Given the description of an element on the screen output the (x, y) to click on. 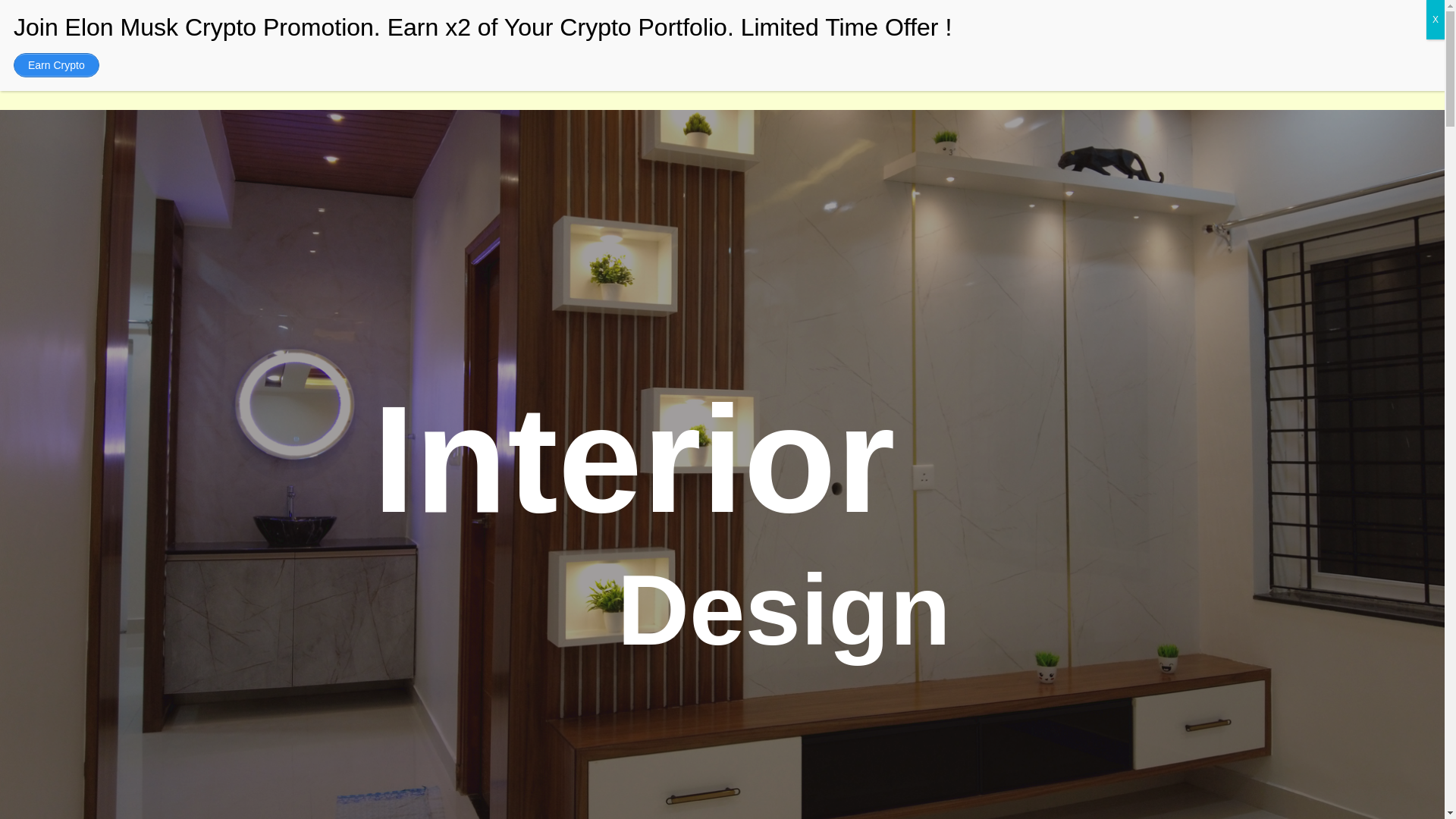
Contact us (878, 49)
About (615, 42)
Home (551, 39)
Portifolio (792, 46)
Earn Crypto (56, 64)
Our Services (699, 45)
